Given the description of an element on the screen output the (x, y) to click on. 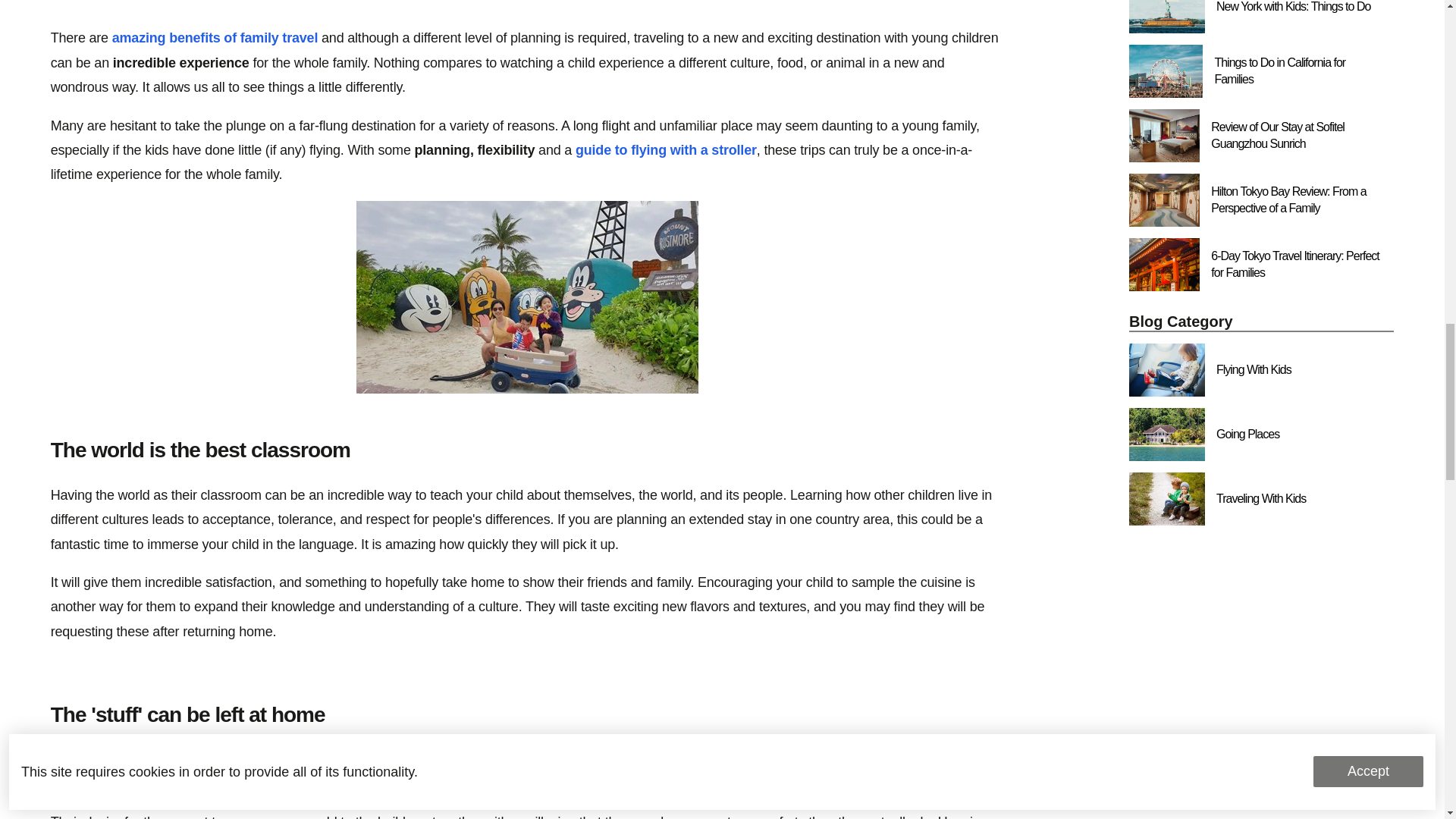
9 amazing benefits of family travel (214, 37)
amazing benefits of family travel (214, 37)
A guide to flying with a stroller (666, 150)
guide to flying with a stroller (666, 150)
